Given the description of an element on the screen output the (x, y) to click on. 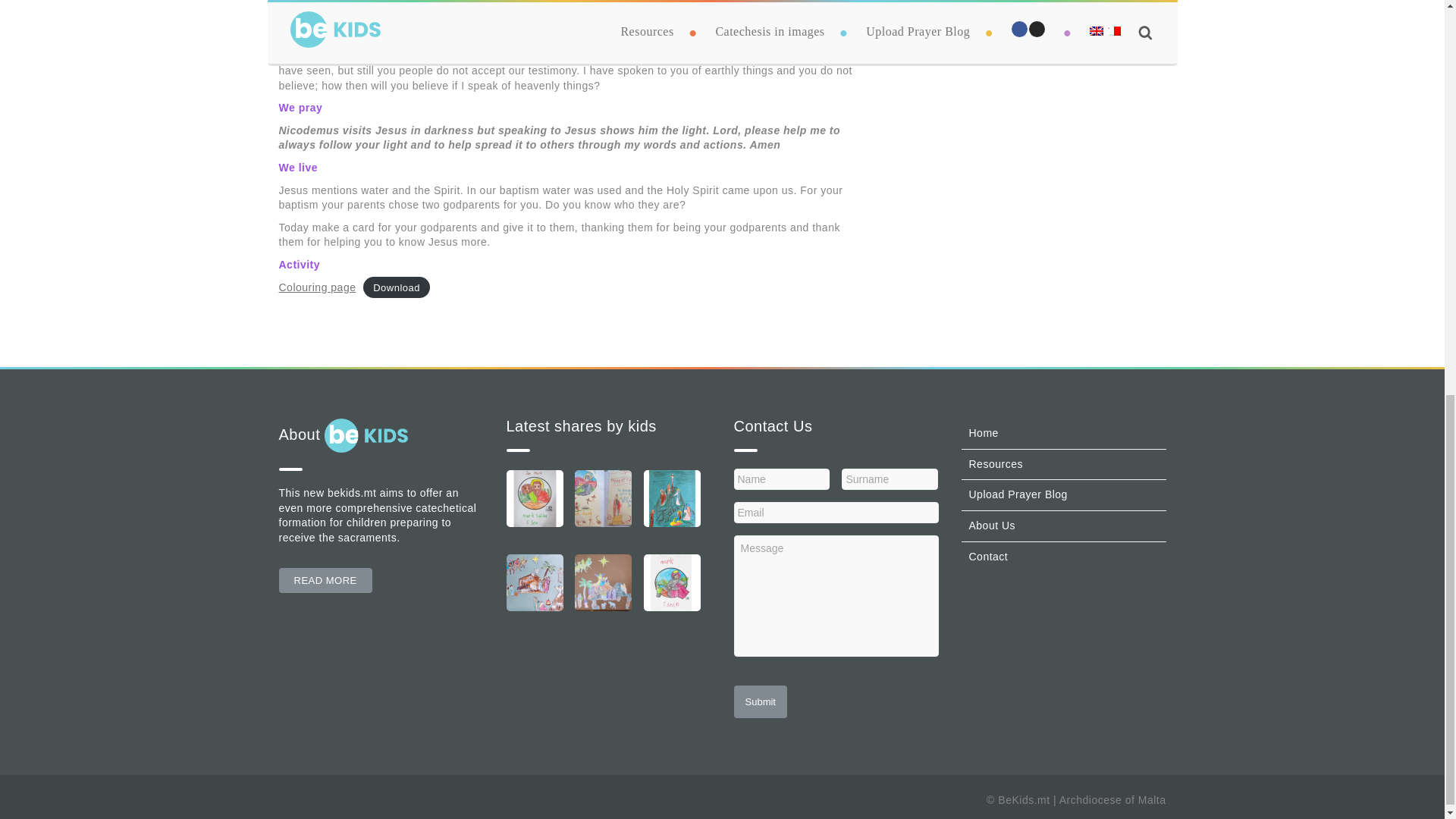
Submit (760, 701)
Resources (996, 463)
READ MORE (325, 580)
Download (395, 287)
Upload Prayer Blog (1018, 494)
Submit (760, 701)
Home (983, 432)
Colouring page (317, 287)
